Given the description of an element on the screen output the (x, y) to click on. 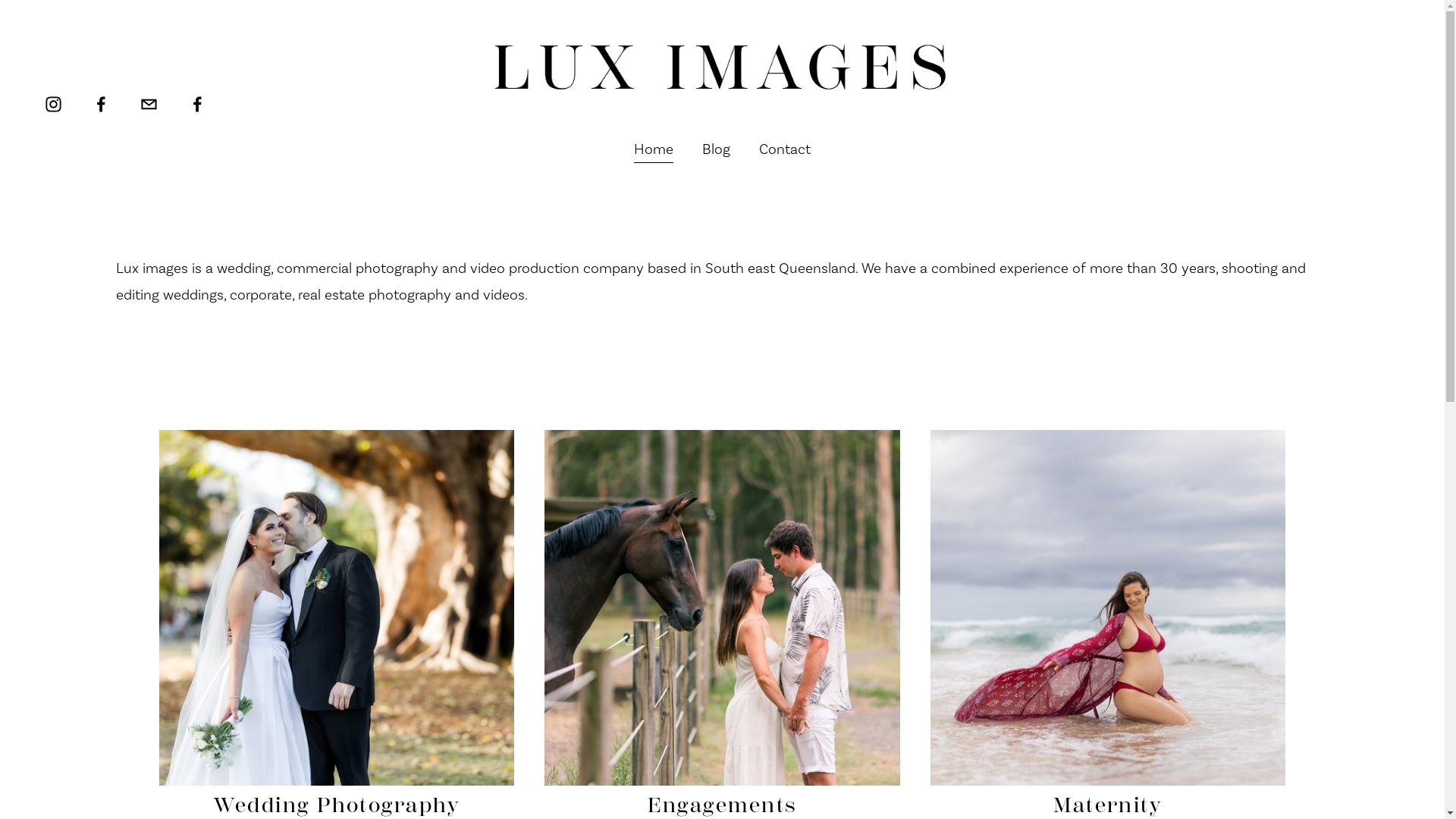
Blog Element type: text (716, 148)
Contact Element type: text (784, 148)
Home Element type: text (653, 148)
